Given the description of an element on the screen output the (x, y) to click on. 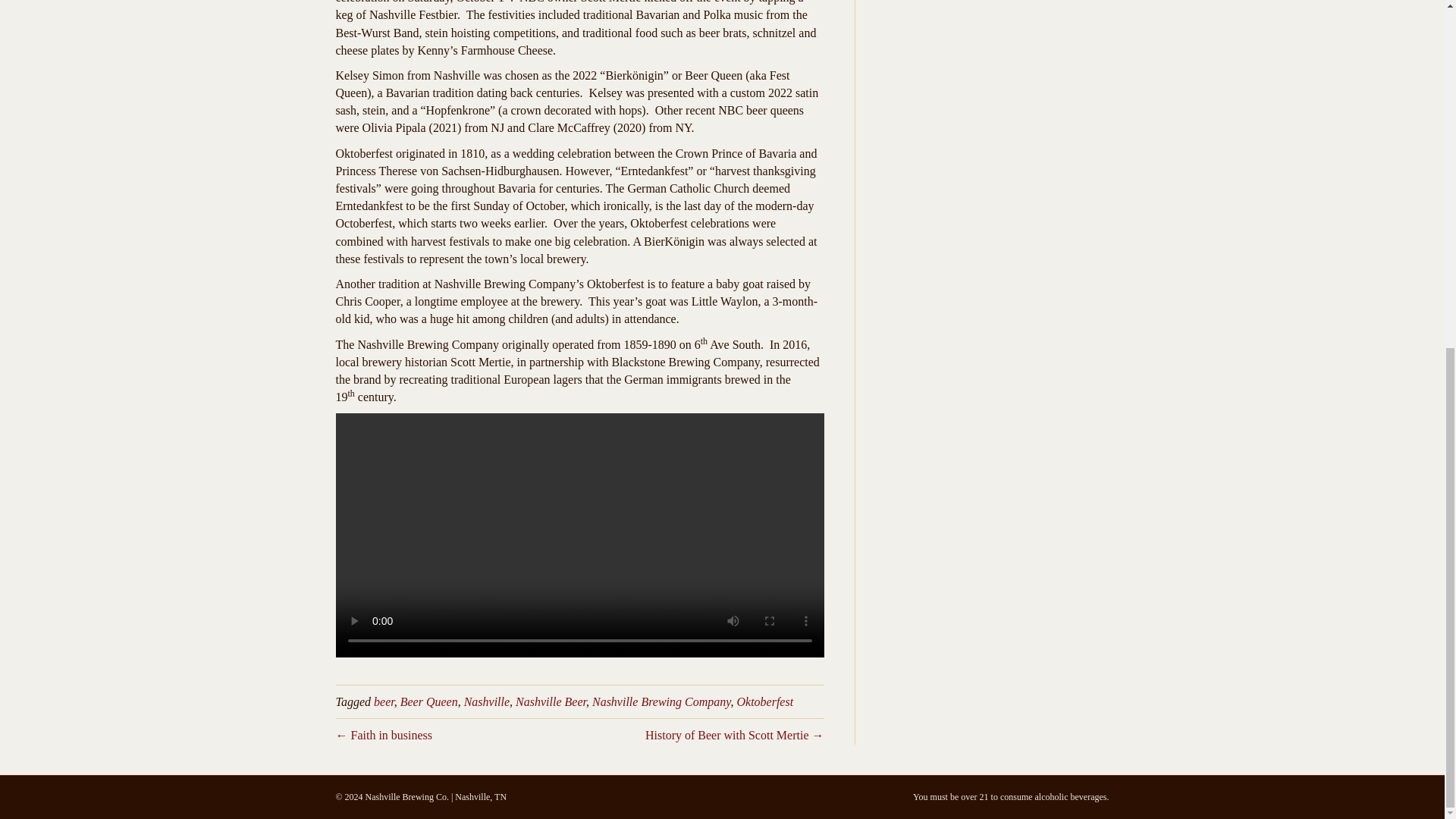
Beer Queen (429, 701)
Nashville Brewing Company (661, 701)
beer (384, 701)
Nashville Beer (550, 701)
Nashville (486, 701)
Oktoberfest (764, 701)
